Given the description of an element on the screen output the (x, y) to click on. 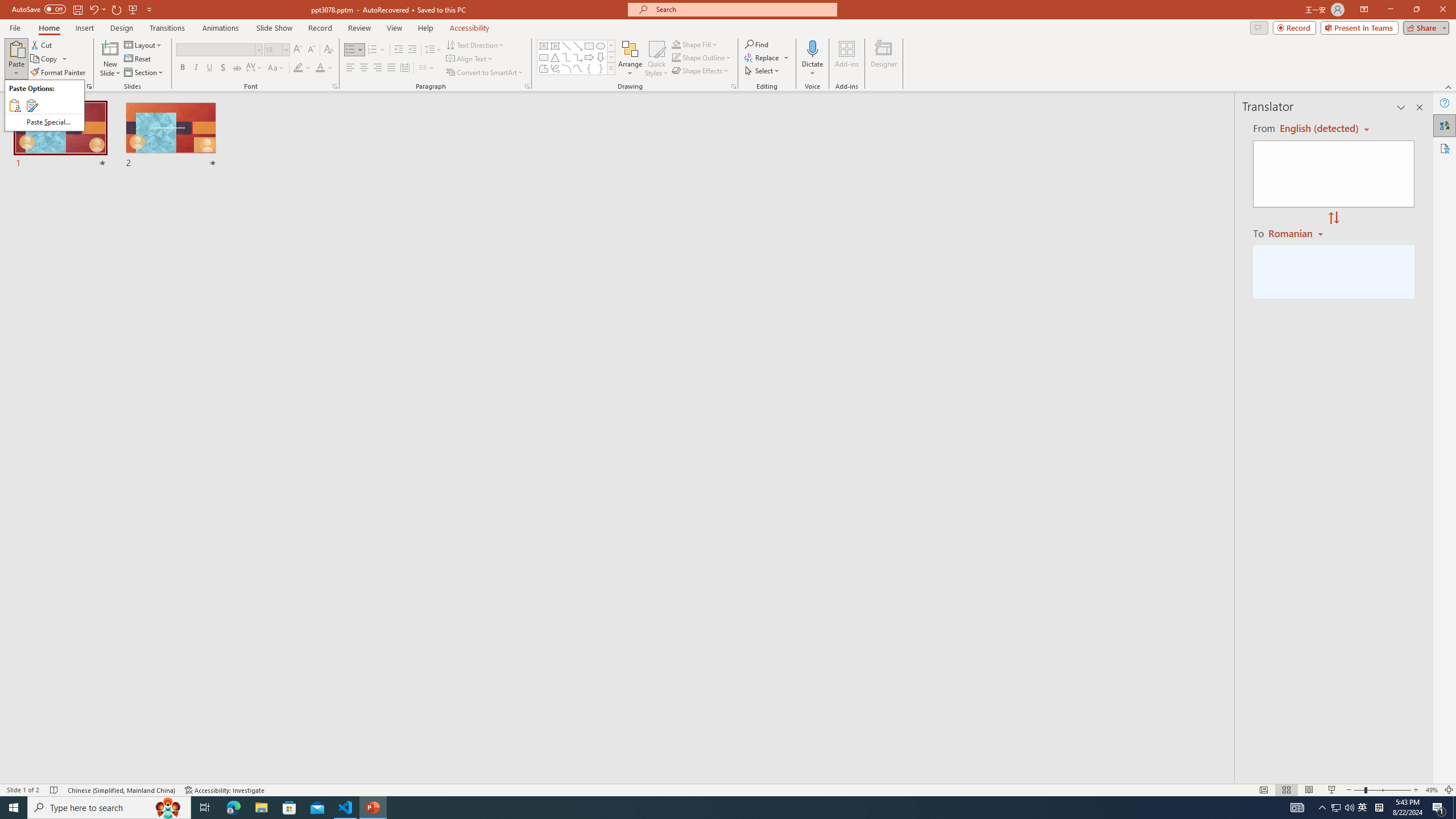
Microsoft Store (289, 807)
New Slide (110, 48)
Row Down (611, 56)
Action Center, 1 new notification (1439, 807)
Slide (170, 135)
Justify (390, 67)
Font... (334, 85)
Convert to SmartArt (485, 72)
Connector: Elbow (566, 57)
Rectangle (589, 45)
Numbering (376, 49)
